Given the description of an element on the screen output the (x, y) to click on. 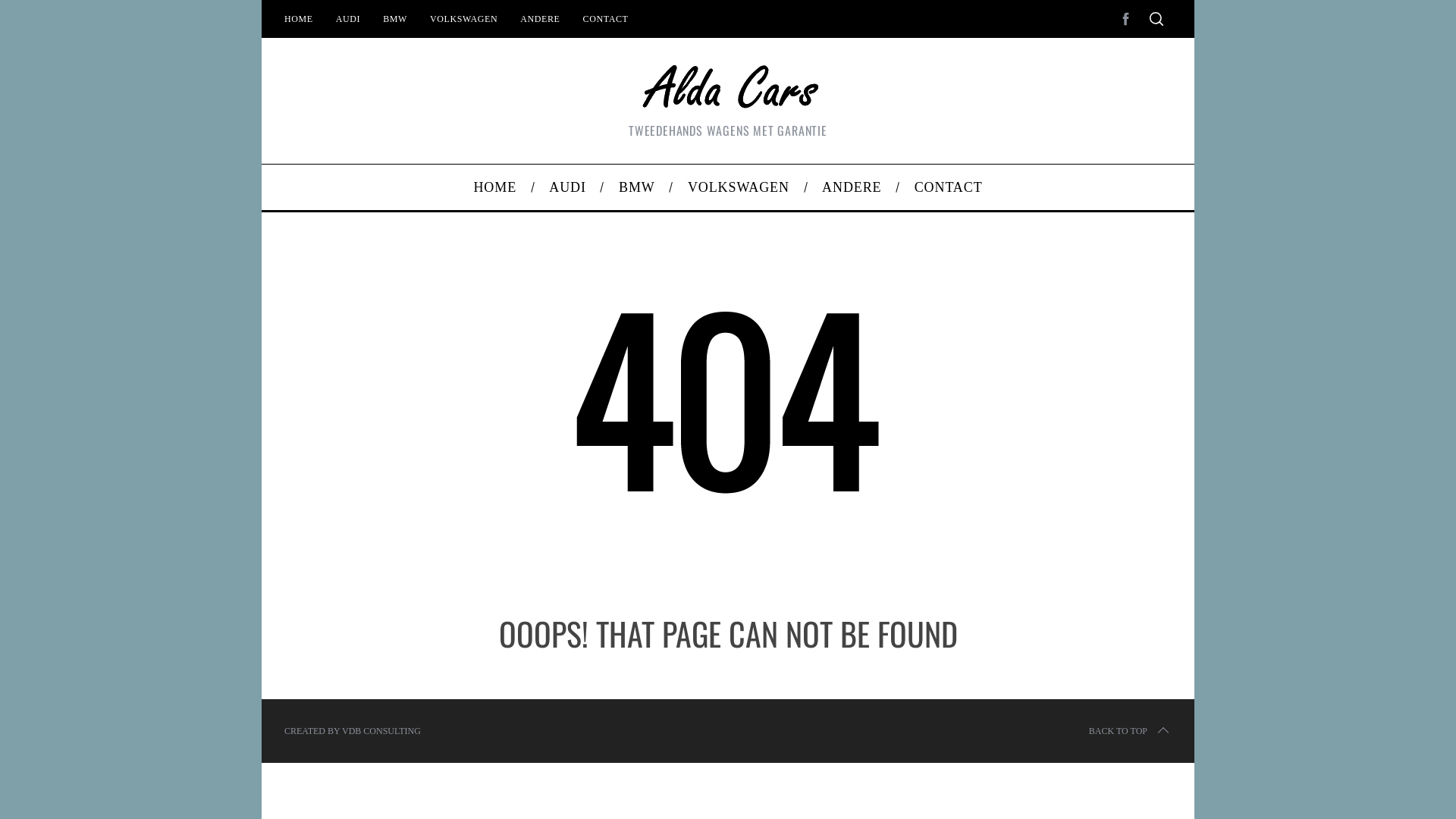
ANDERE Element type: text (539, 18)
AUDI Element type: text (347, 18)
CONTACT Element type: text (605, 18)
AUDI Element type: text (567, 187)
BACK TO TOP Element type: text (1129, 730)
HOME Element type: text (495, 187)
VOLKSWAGEN Element type: text (463, 18)
ANDERE Element type: text (851, 187)
BMW Element type: text (636, 187)
HOME Element type: text (298, 18)
CONTACT Element type: text (947, 187)
VOLKSWAGEN Element type: text (738, 187)
BMW Element type: text (394, 18)
